Given the description of an element on the screen output the (x, y) to click on. 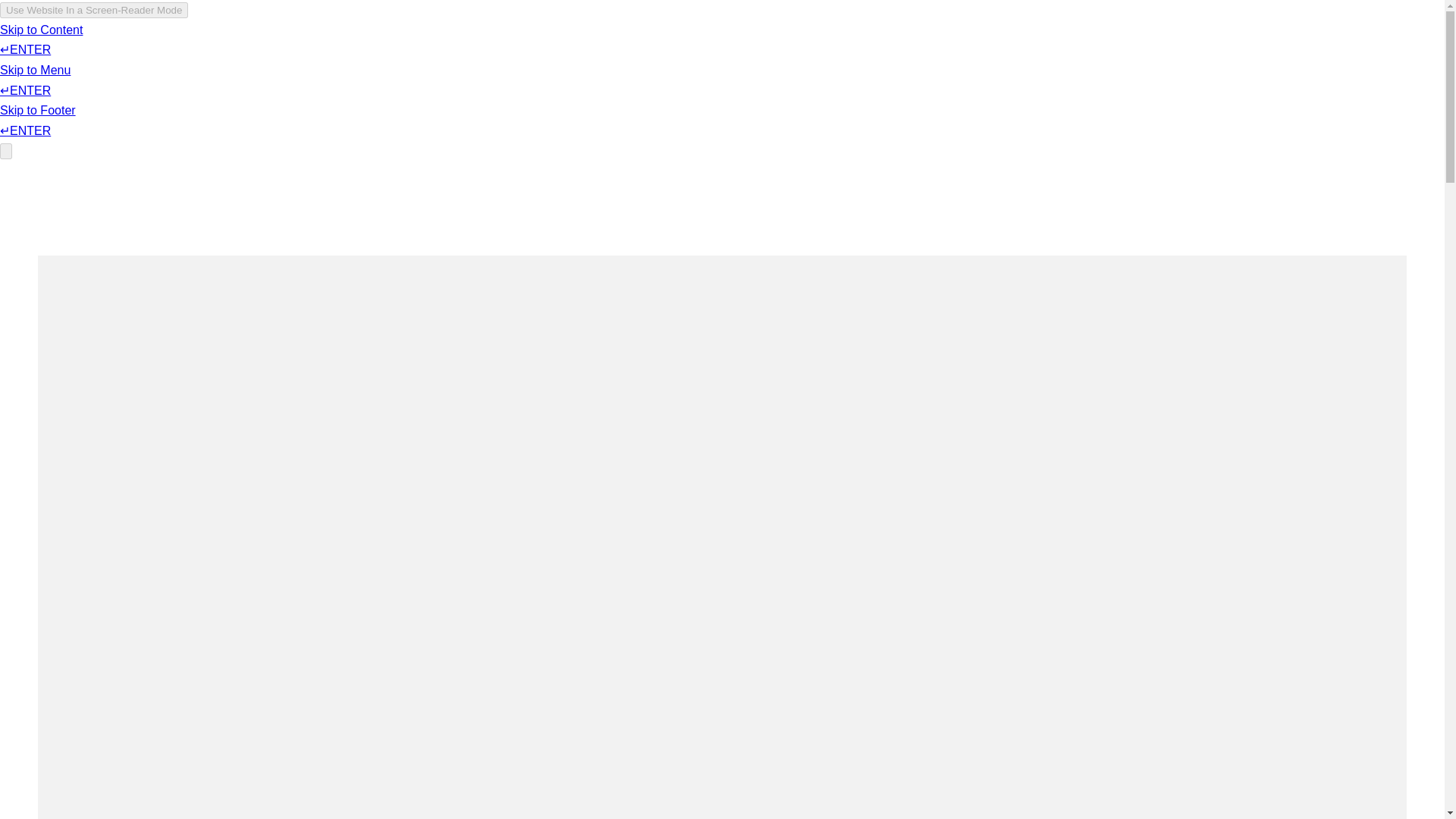
PORTFOLIO (764, 56)
LET'S CONNECT (997, 56)
ABOUT US (872, 56)
